Given the description of an element on the screen output the (x, y) to click on. 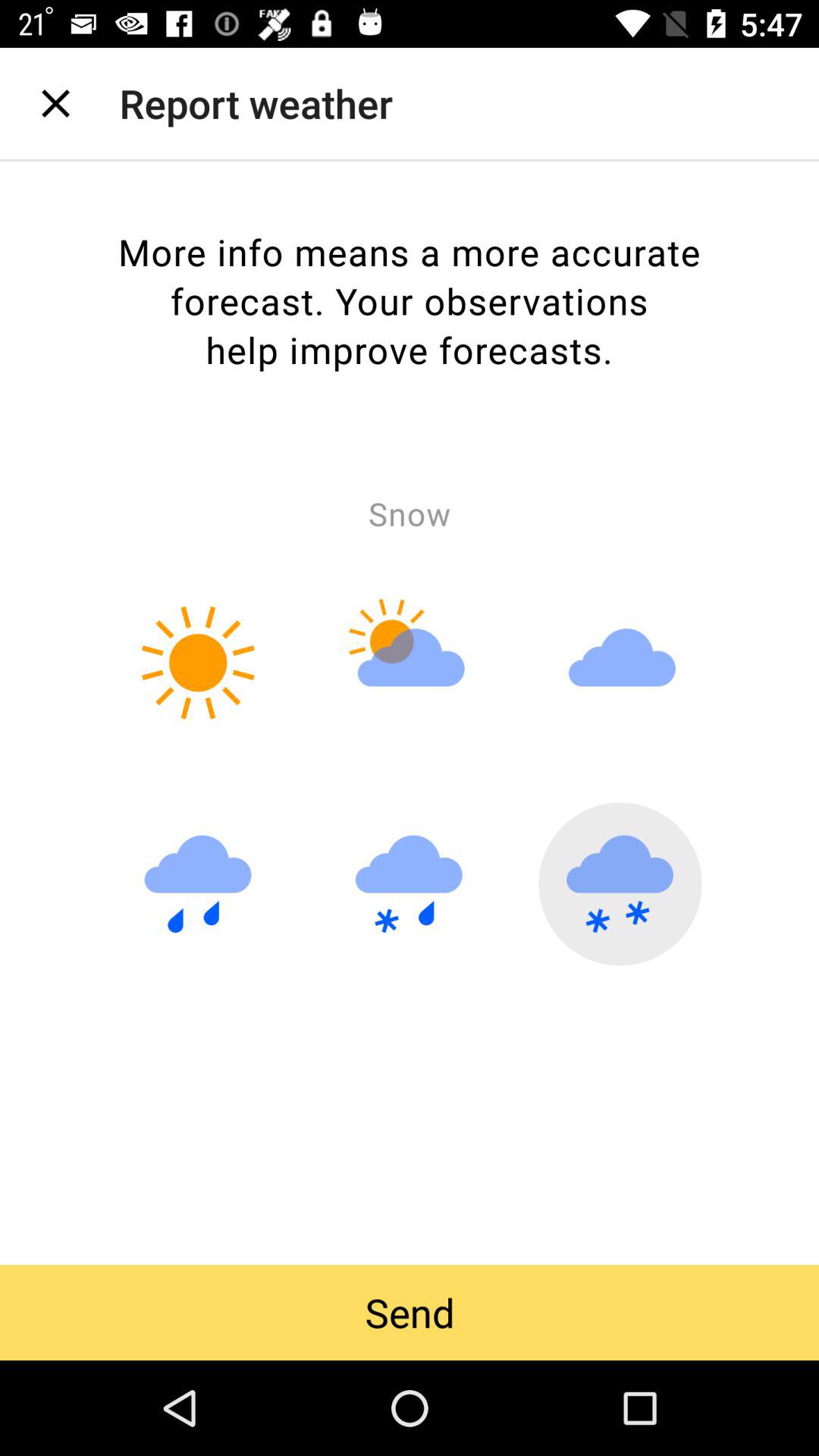
turn off send (409, 1312)
